Given the description of an element on the screen output the (x, y) to click on. 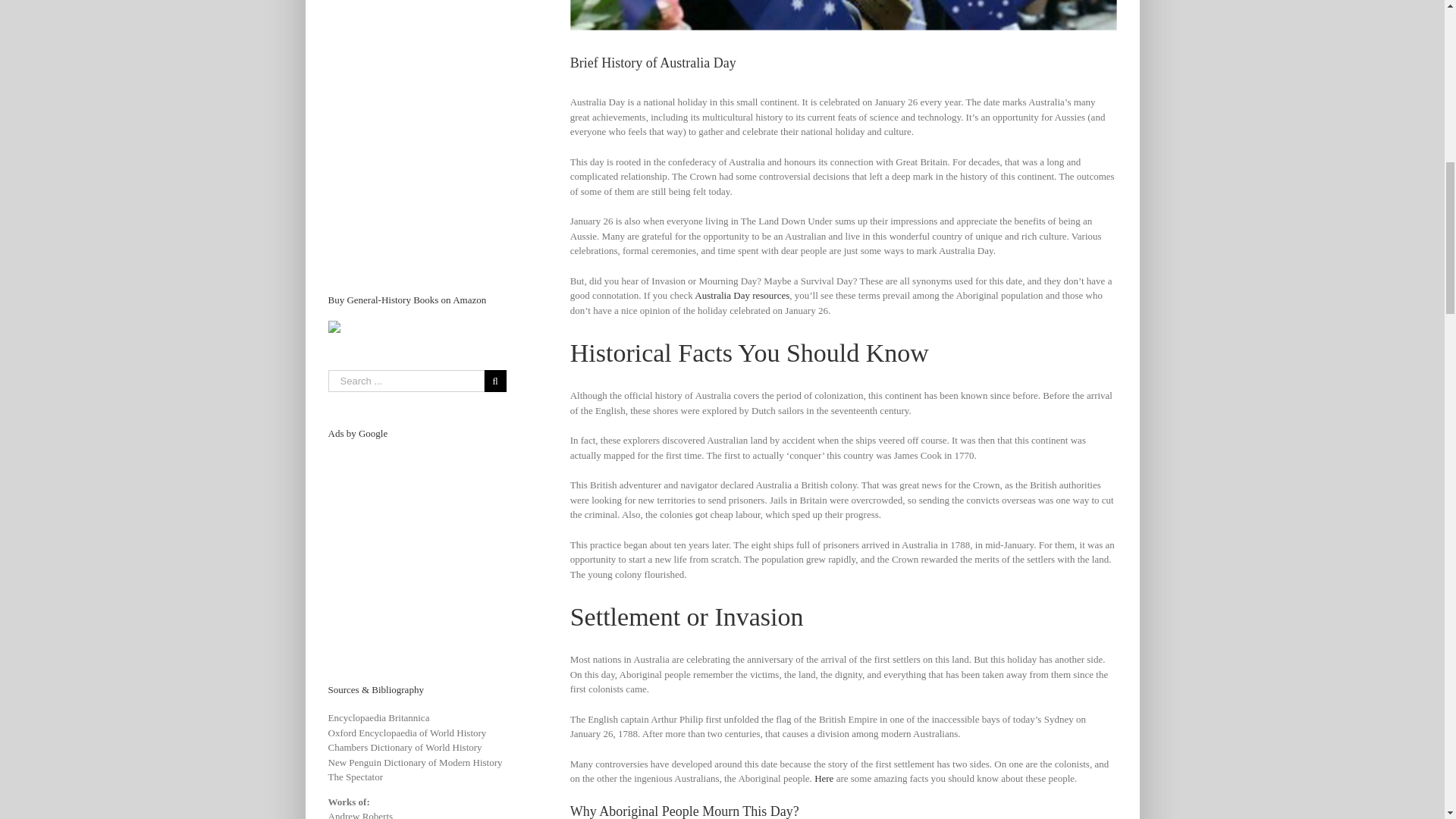
Here (822, 778)
Australia Day resources (741, 295)
View Larger Image (843, 15)
